Given the description of an element on the screen output the (x, y) to click on. 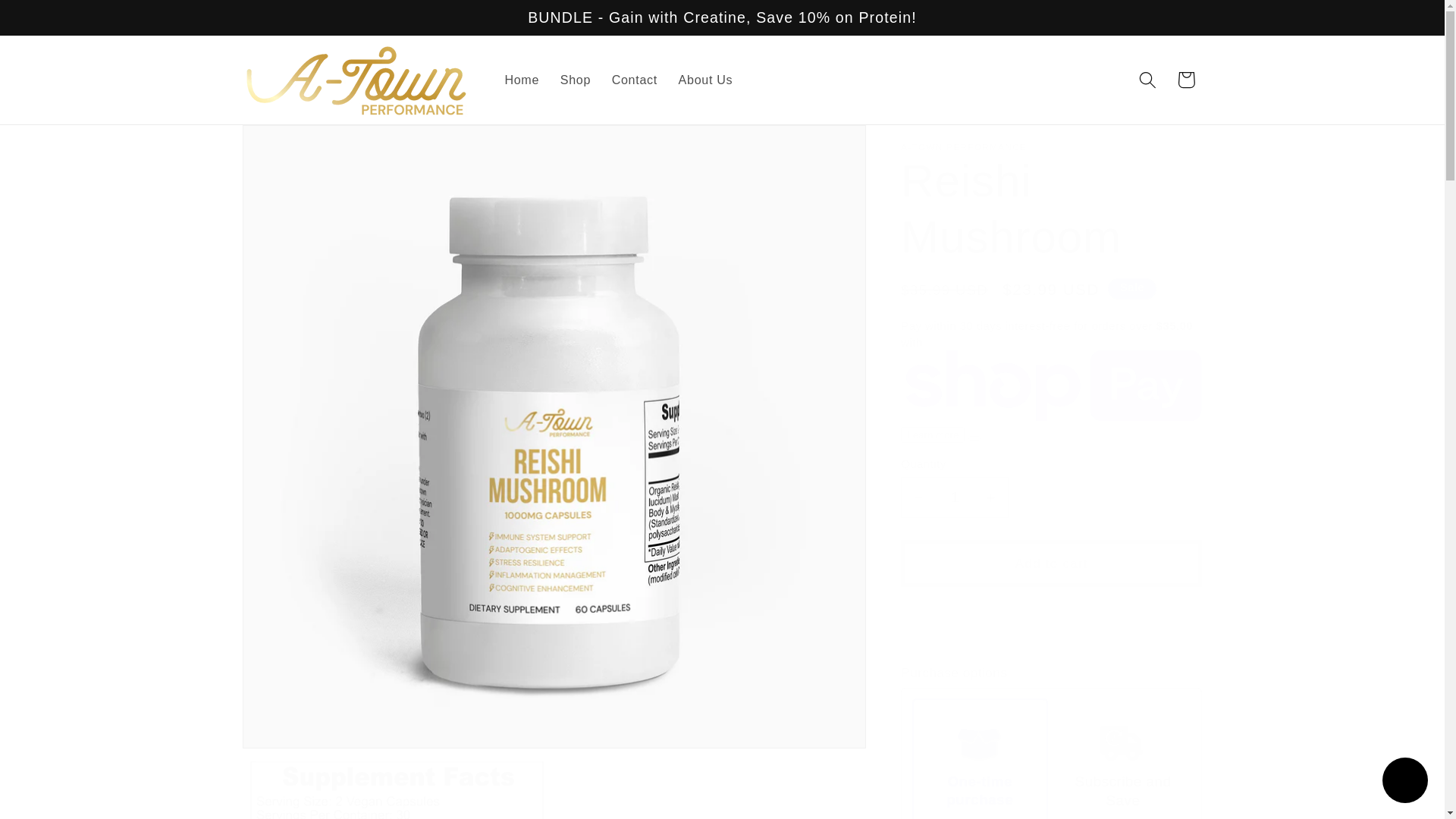
Add to cart (1051, 563)
Shop (575, 80)
Contact (634, 80)
Skip to product information (297, 147)
Cart (1186, 79)
Shopify online store chat (1404, 781)
Open media 2 in modal (397, 786)
About Us (705, 80)
Skip to content (56, 22)
